Given the description of an element on the screen output the (x, y) to click on. 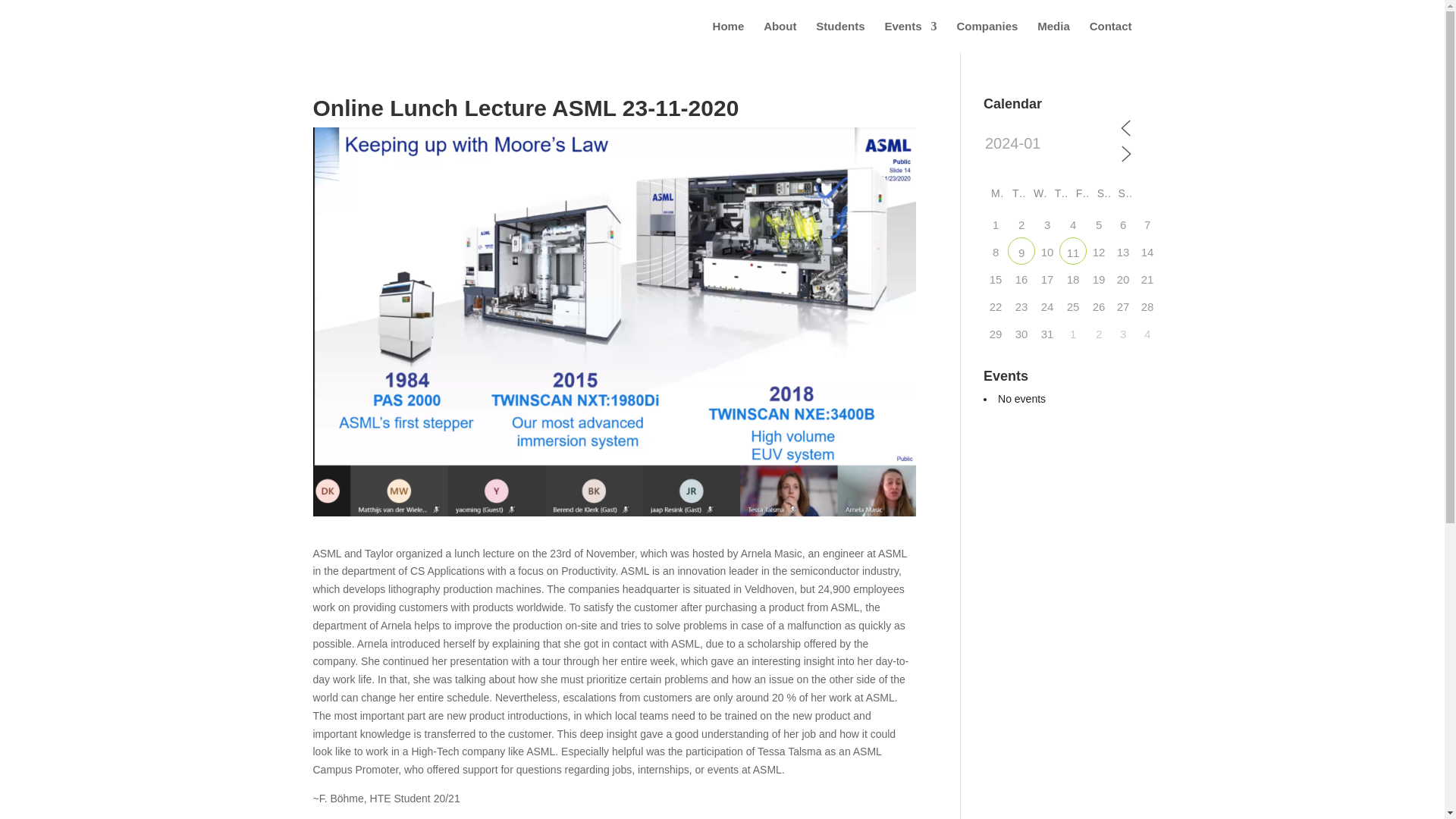
11 (1072, 250)
2024-01 (1050, 143)
Hittech Company Visit (1021, 250)
About (779, 37)
9 (1021, 250)
Events (909, 37)
Contact (1110, 37)
Companies (986, 37)
Students (839, 37)
Media (1053, 37)
Settels Savenije lunch lecture (1072, 250)
Home (728, 37)
